Given the description of an element on the screen output the (x, y) to click on. 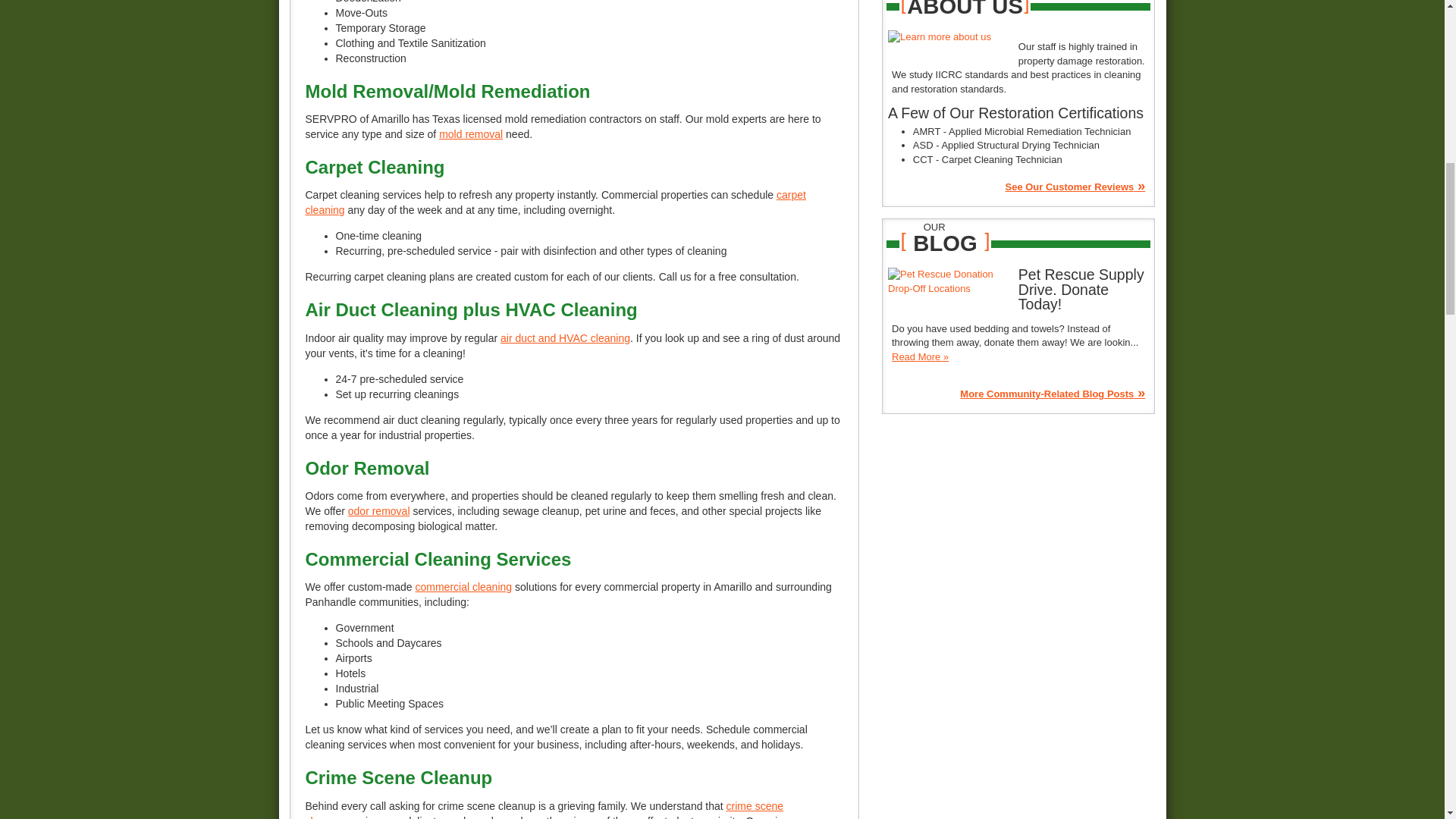
Air Duct Cleaning (565, 337)
Odor Removal (378, 510)
Mold Removal (470, 133)
Crime Scene Cleanup (543, 809)
Carpet Cleaning (554, 202)
Commercial Cleaning Services (463, 586)
